Given the description of an element on the screen output the (x, y) to click on. 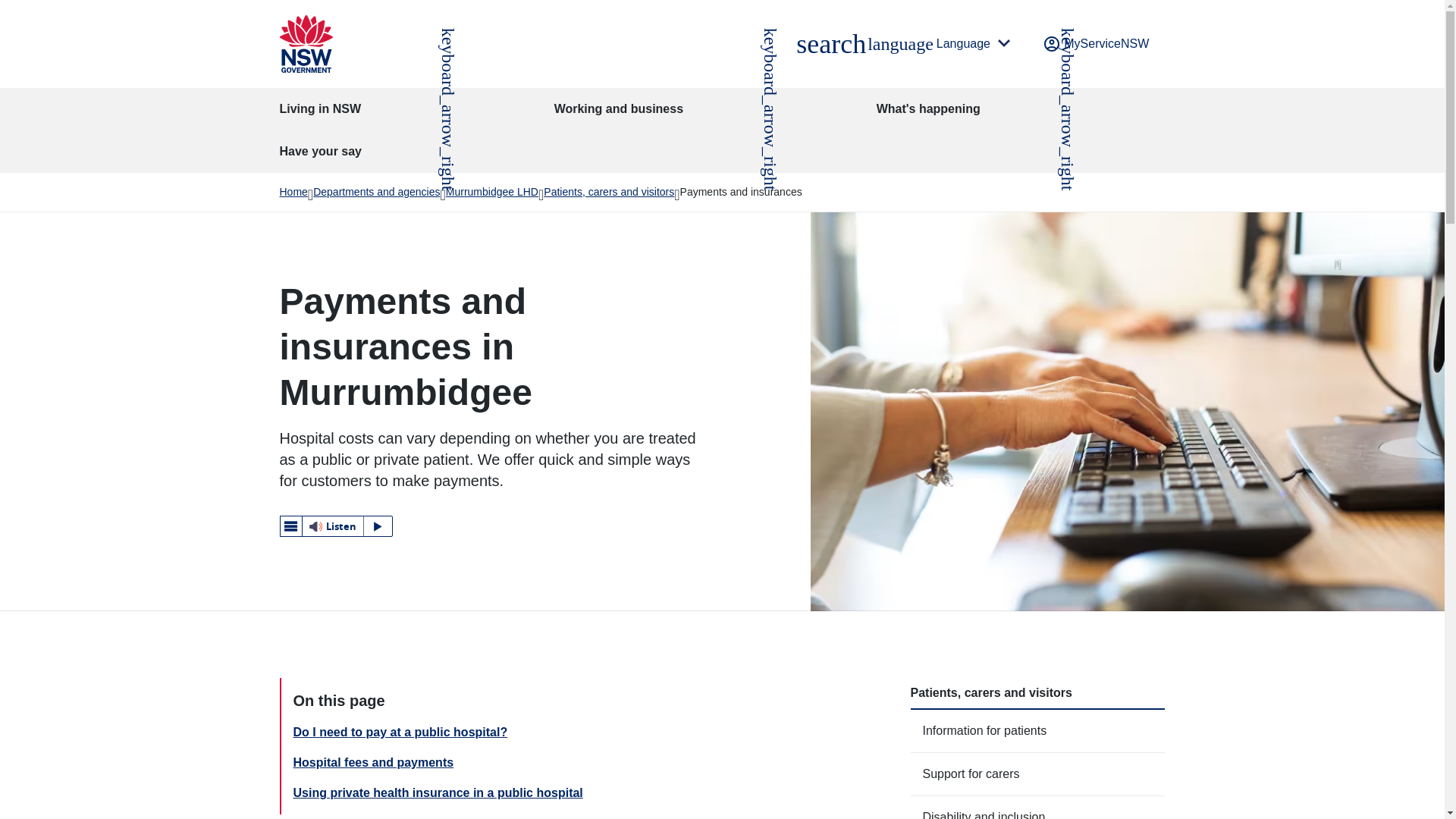
Listen to this page using ReadSpeaker webReader (830, 43)
webReader menu (336, 526)
